Given the description of an element on the screen output the (x, y) to click on. 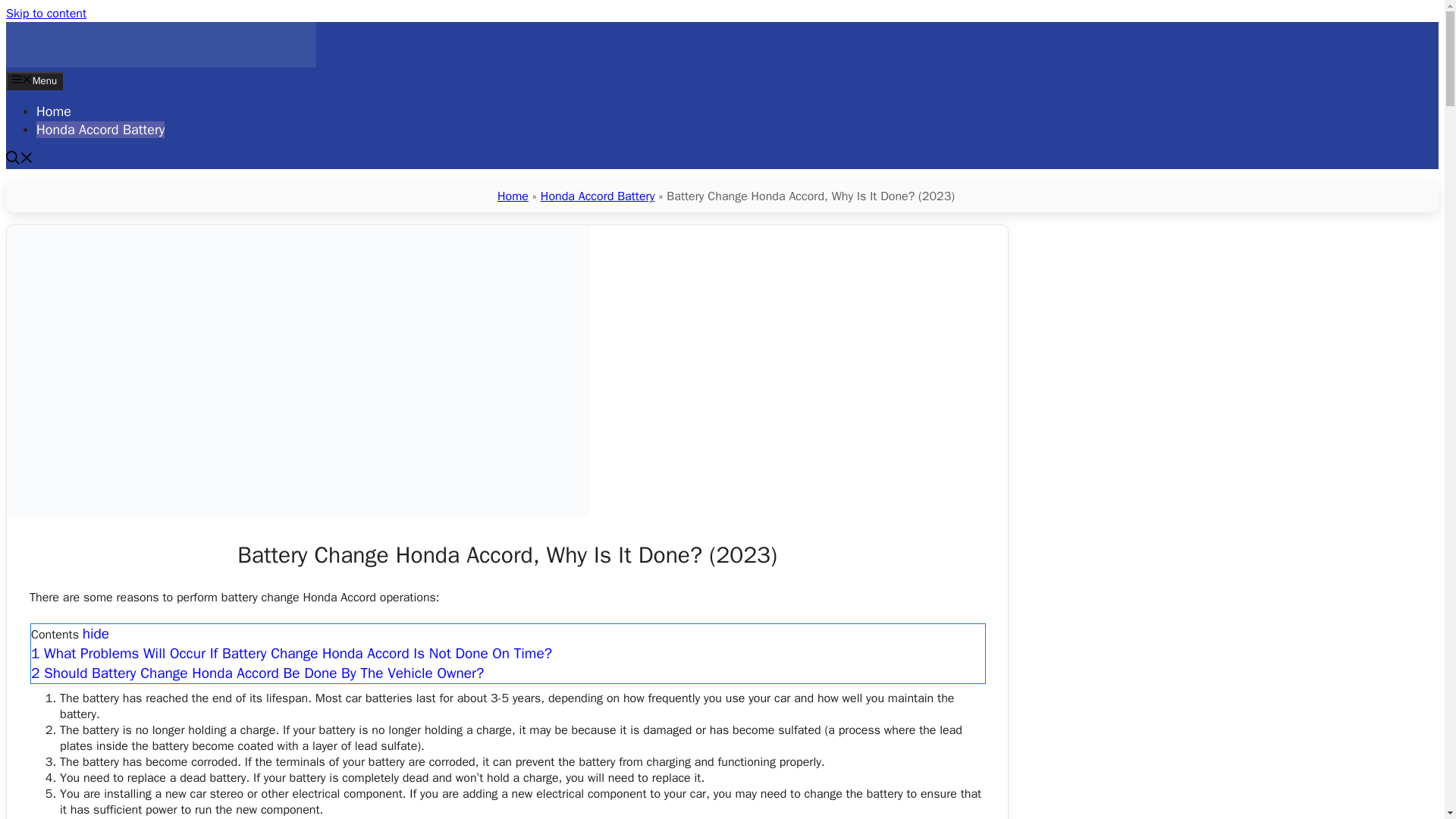
Skip to content (45, 13)
Skip to content (45, 13)
Honda Accord Battery (160, 63)
Honda Accord Battery (597, 196)
Honda Accord Battery (100, 129)
Home (512, 196)
hide (95, 634)
Menu (33, 81)
